Given the description of an element on the screen output the (x, y) to click on. 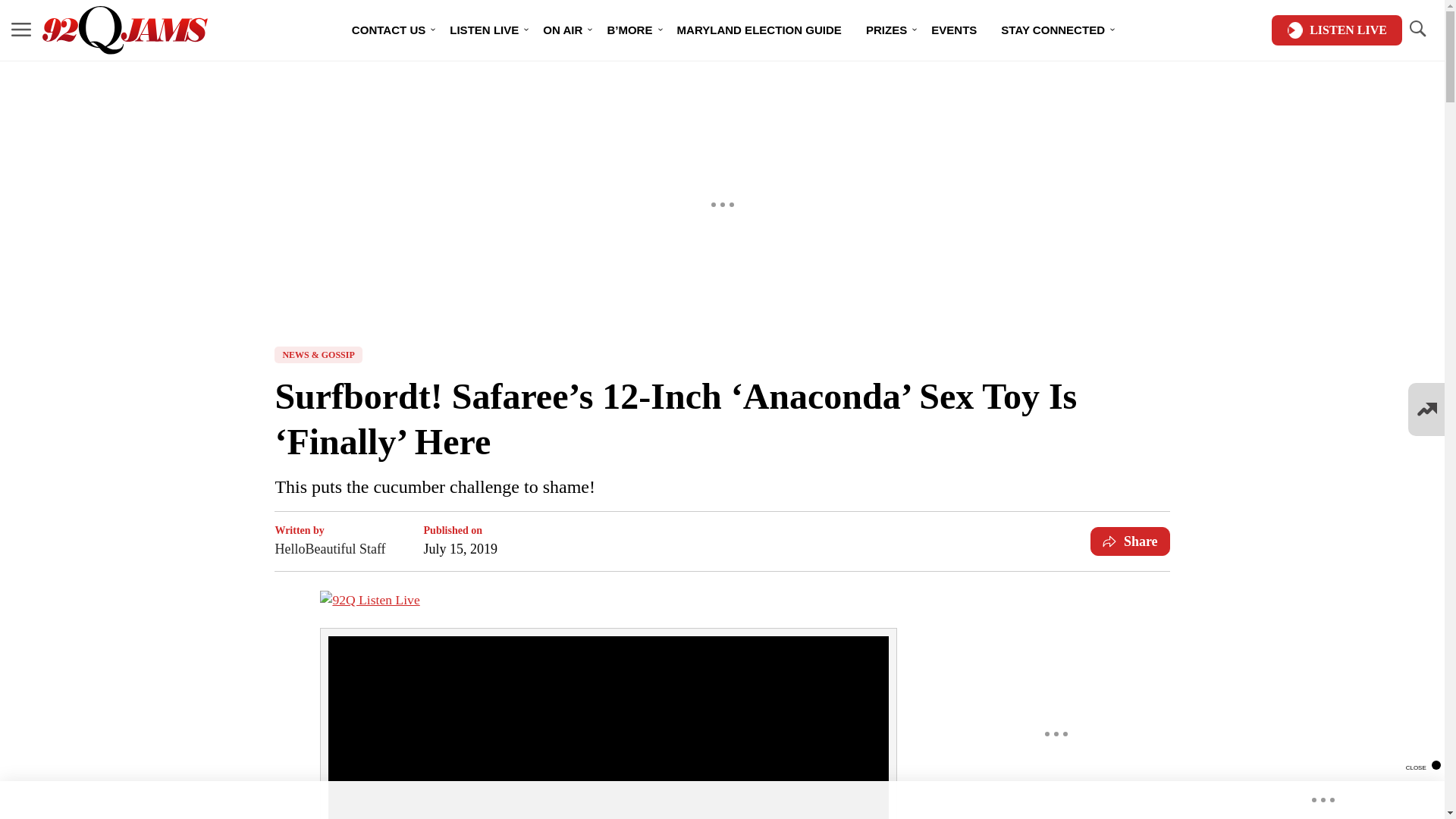
TOGGLE SEARCH (1417, 30)
EVENTS (953, 30)
PRIZES (885, 30)
STAY CONNECTED (1052, 30)
CONTACT US (388, 30)
ON AIR (562, 30)
MARYLAND ELECTION GUIDE (758, 30)
MENU (20, 30)
LISTEN LIVE (484, 30)
TOGGLE SEARCH (1417, 28)
LISTEN LIVE (1336, 30)
MENU (20, 29)
